Given the description of an element on the screen output the (x, y) to click on. 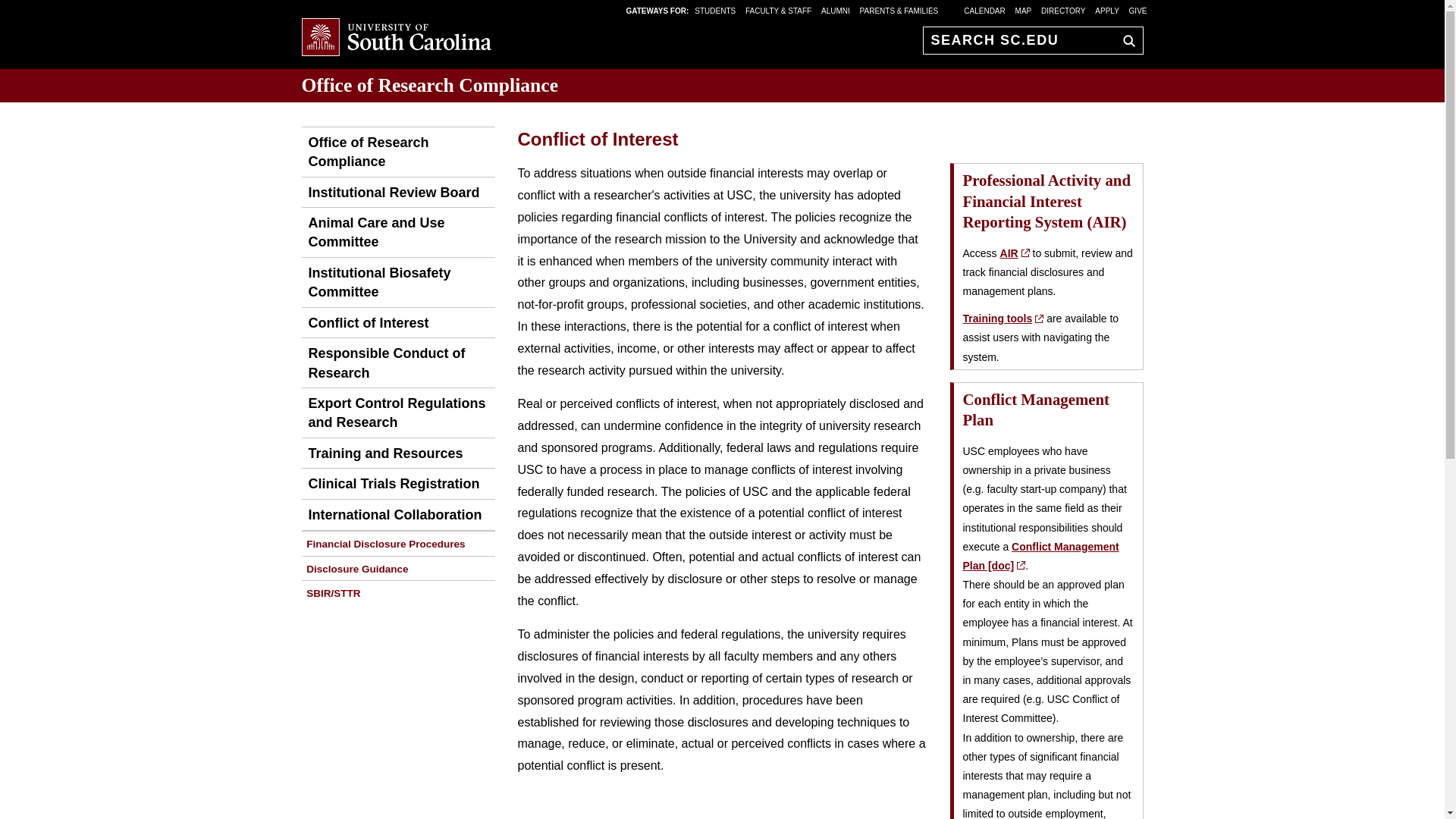
Training and Resources (382, 453)
ALUMNI (835, 9)
APPLY (1106, 9)
GIVE (1138, 9)
AIR (1014, 253)
STUDENTS (716, 9)
Training Videos (1002, 318)
DIRECTORY (1063, 9)
OU Demo (398, 151)
MAP (1023, 9)
